Given the description of an element on the screen output the (x, y) to click on. 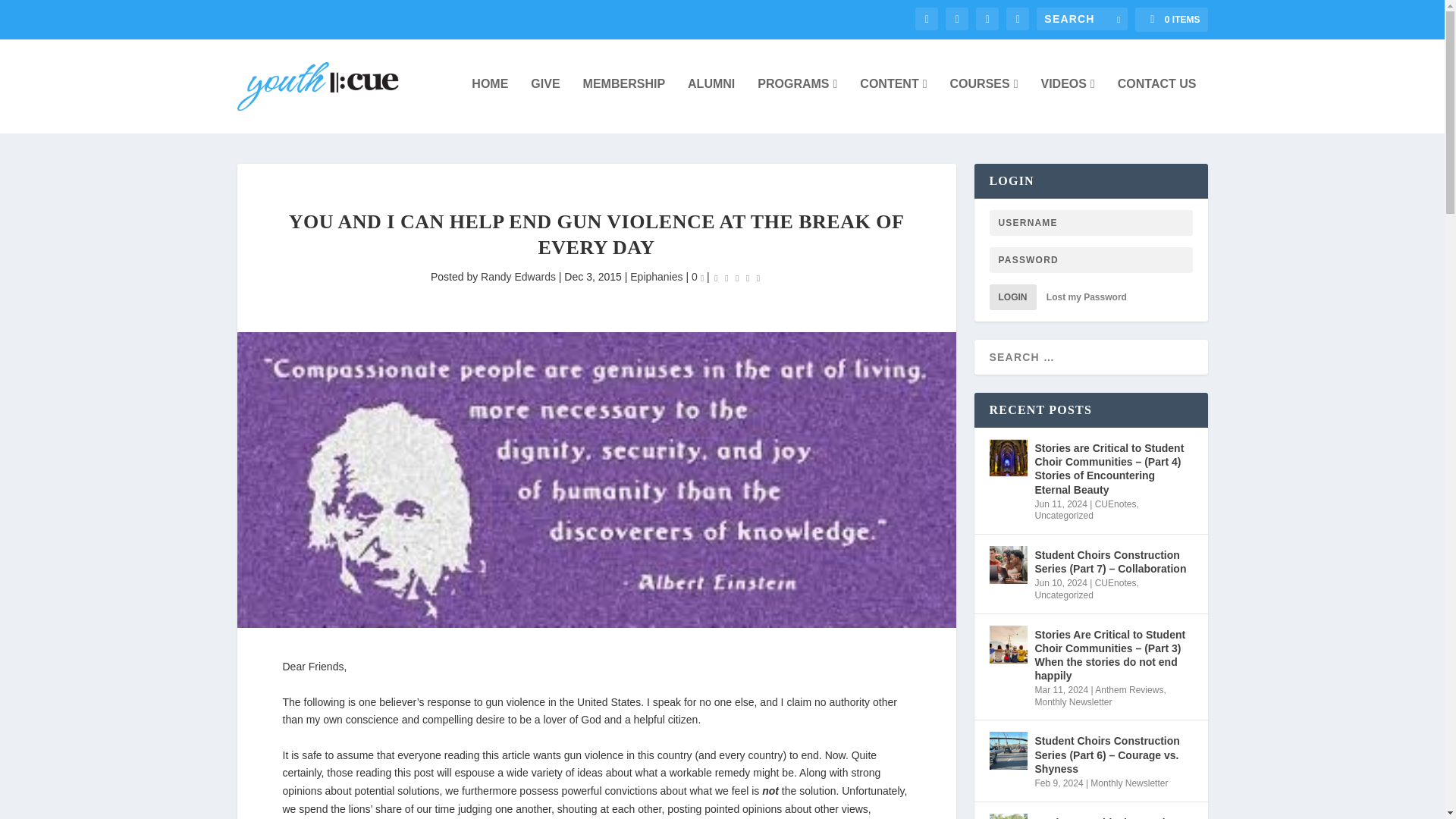
0 Items in Cart (1171, 19)
VIDEOS (1067, 104)
COURSES (983, 104)
CONTENT (893, 104)
0 ITEMS (1171, 19)
CONTACT US (1157, 104)
Posts by Randy Edwards (518, 276)
Epiphanies (656, 276)
Search for: (1081, 18)
PROGRAMS (797, 104)
